Given the description of an element on the screen output the (x, y) to click on. 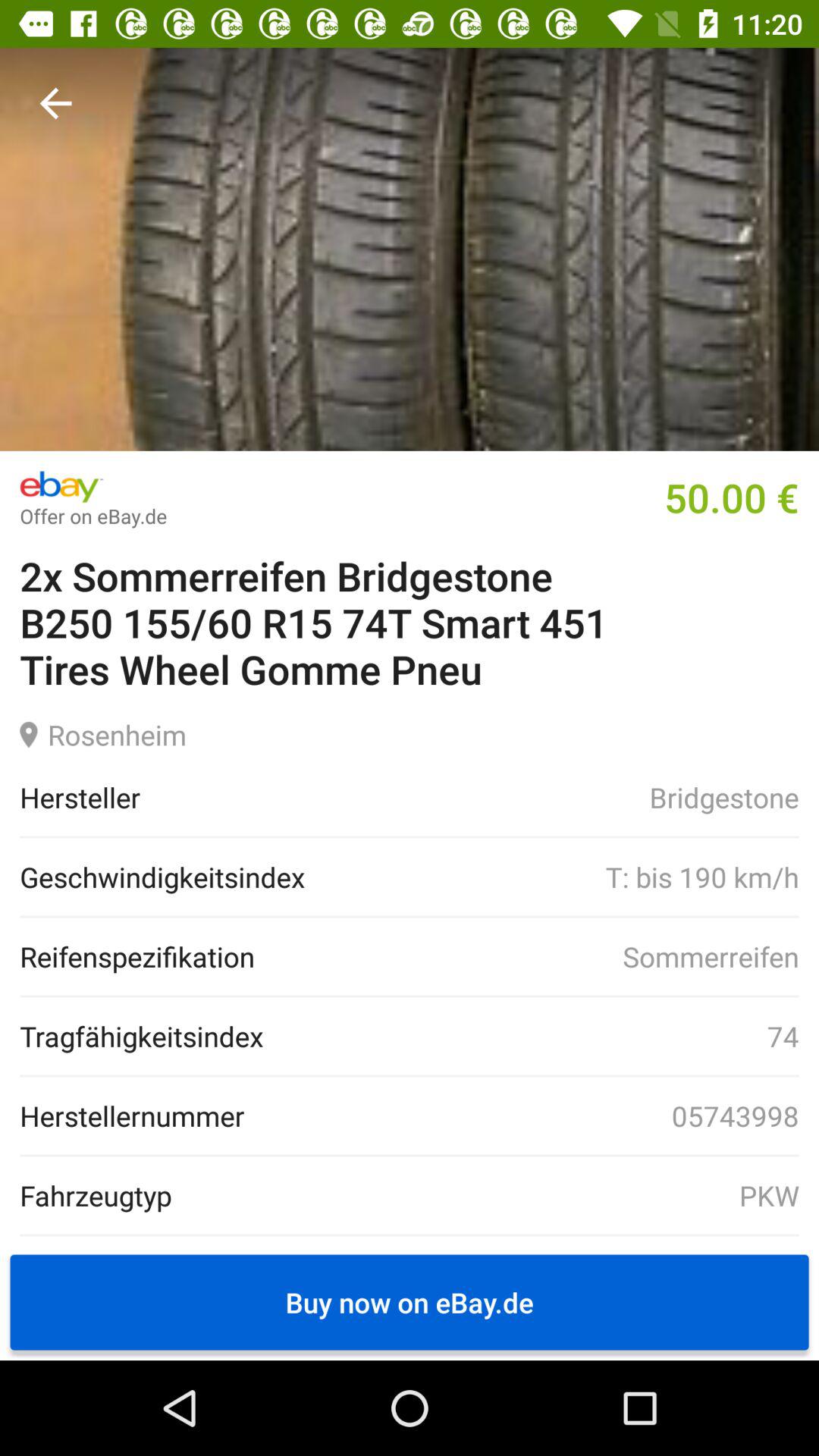
click the  05743998 (521, 1115)
